Given the description of an element on the screen output the (x, y) to click on. 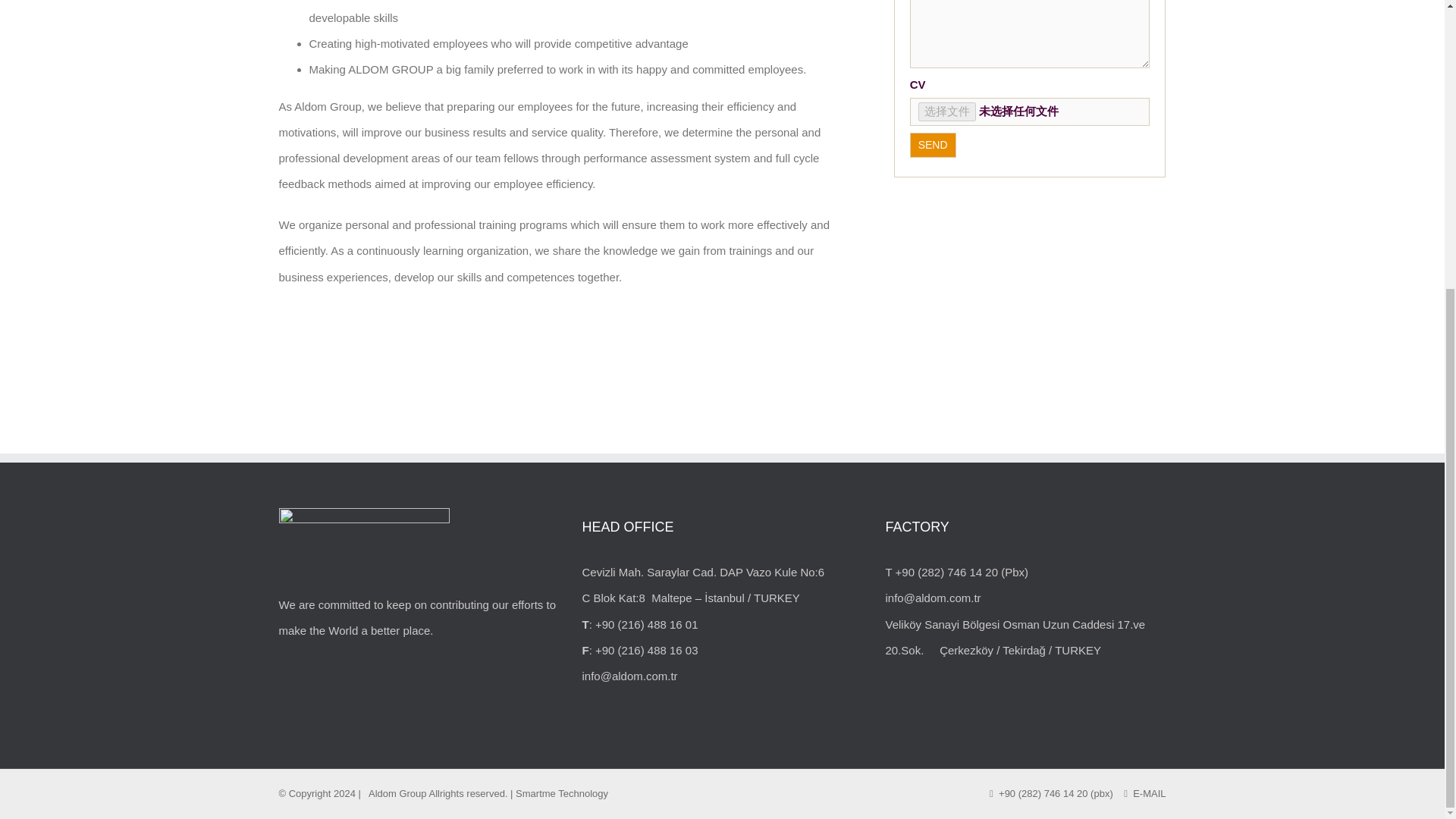
Send (933, 145)
Smartme Technology (561, 793)
  E-MAIL (1145, 793)
Send (933, 145)
Aldom Group (397, 793)
